Given the description of an element on the screen output the (x, y) to click on. 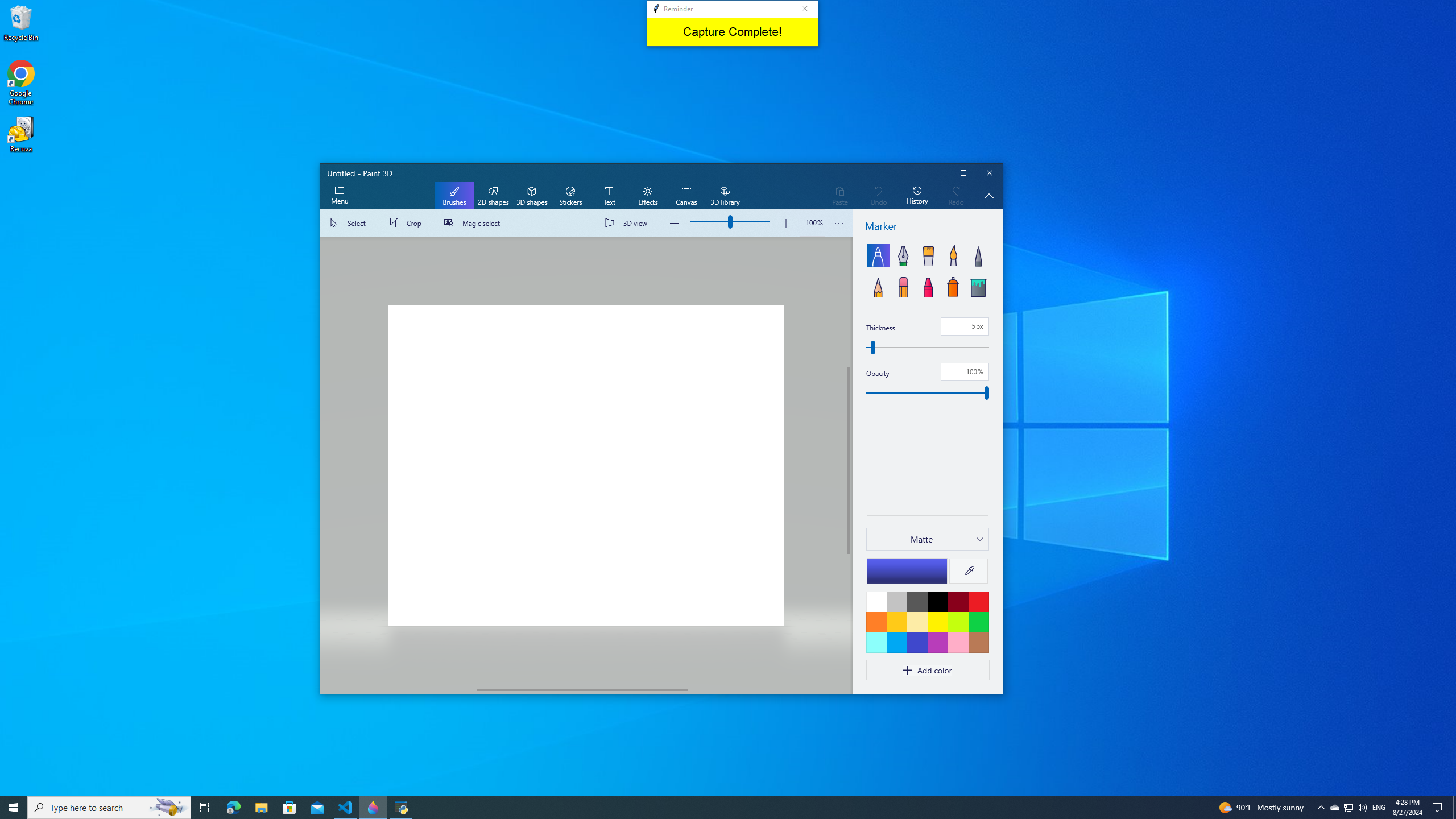
Pencil (877, 285)
Horizontal (582, 689)
Add color (927, 670)
Black (937, 601)
Undo (878, 195)
Zoom slider (812, 222)
Opacity, percent (964, 371)
3D shapes (531, 195)
Crayon (928, 285)
3D library (725, 195)
Magic select (474, 222)
